Given the description of an element on the screen output the (x, y) to click on. 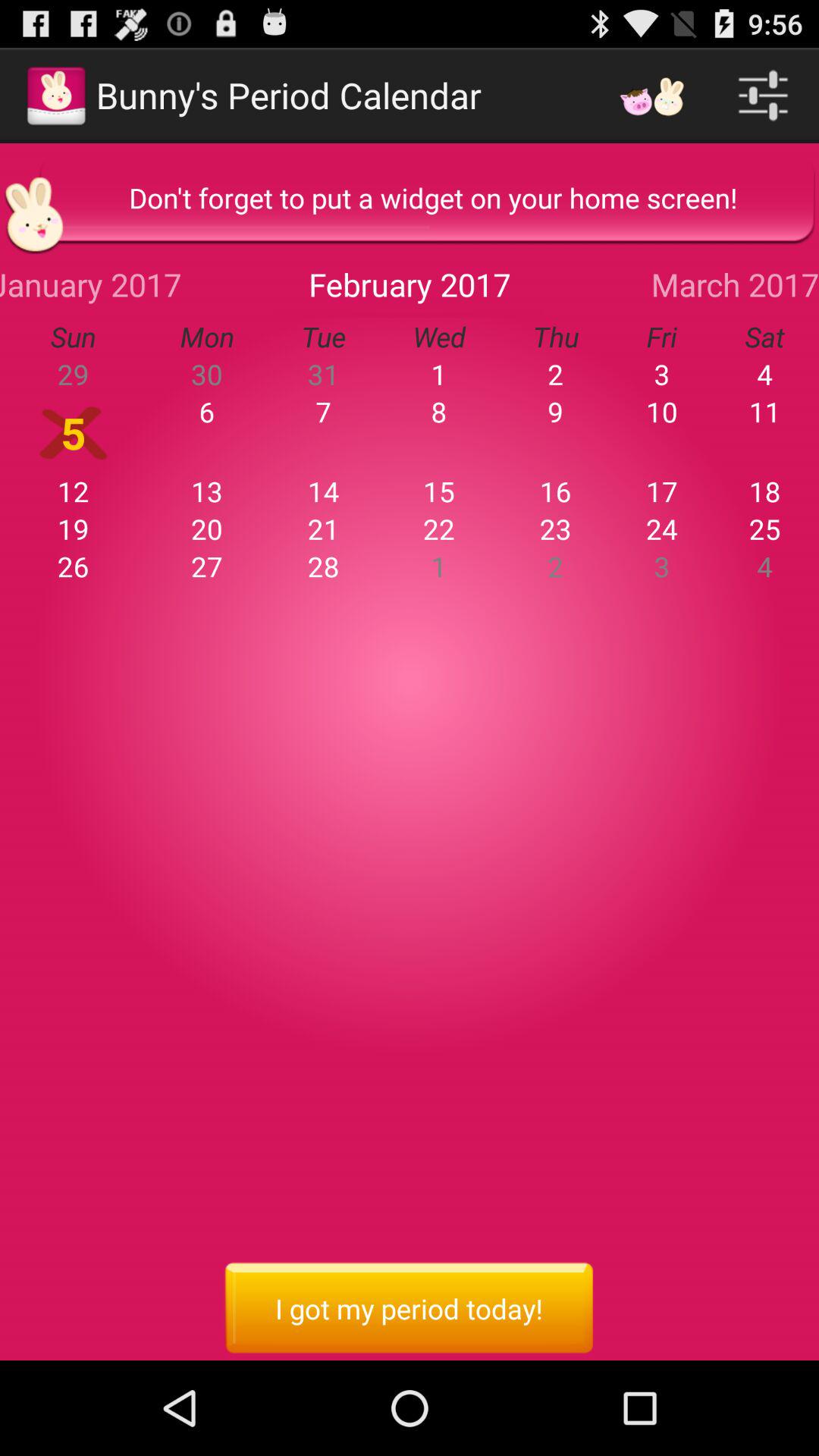
select item next to the thu app (661, 336)
